Given the description of an element on the screen output the (x, y) to click on. 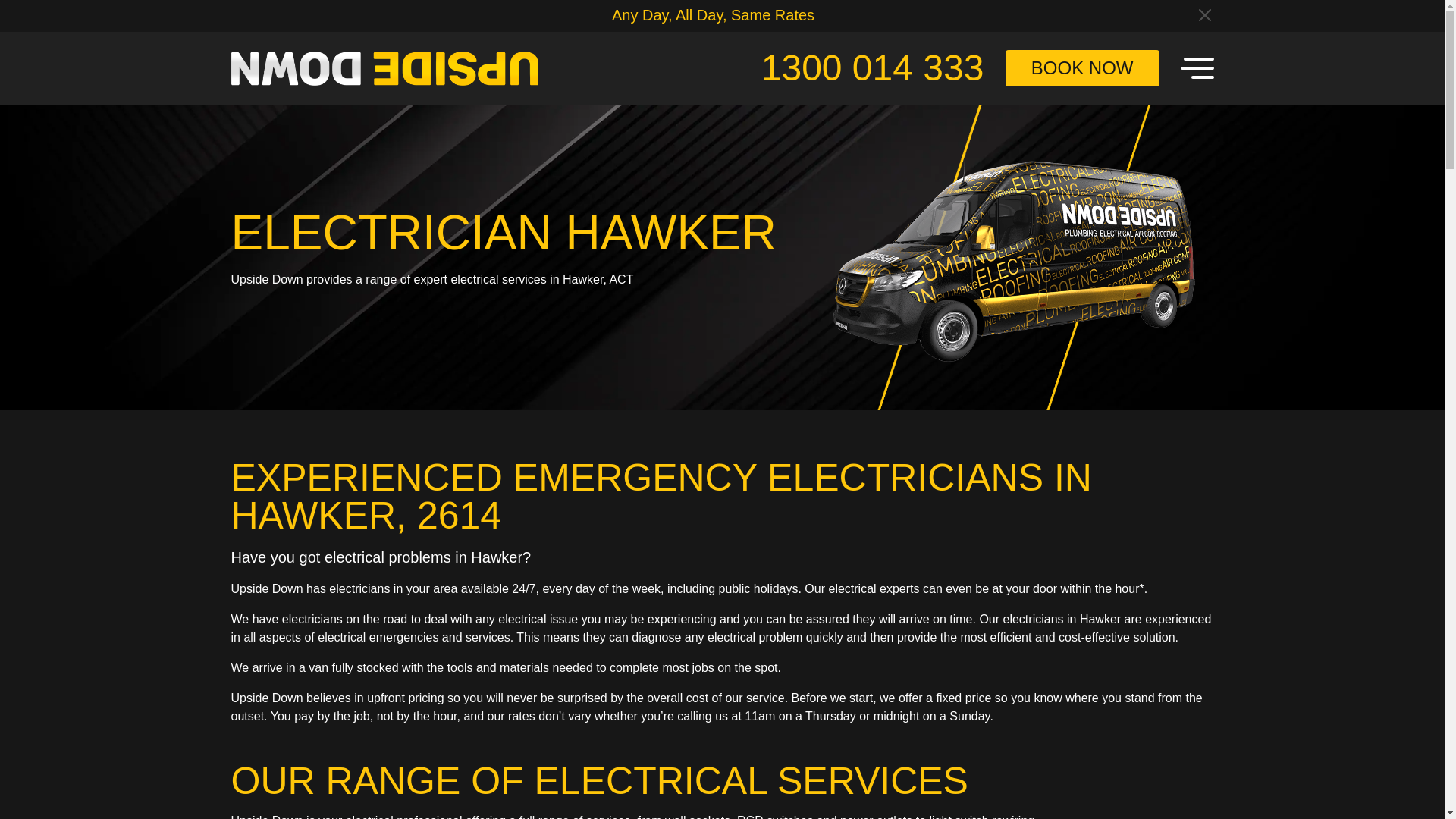
1300 014 333 (872, 67)
Any Day, All Day, Same Rates (712, 14)
BOOK NOW (1082, 67)
